Given the description of an element on the screen output the (x, y) to click on. 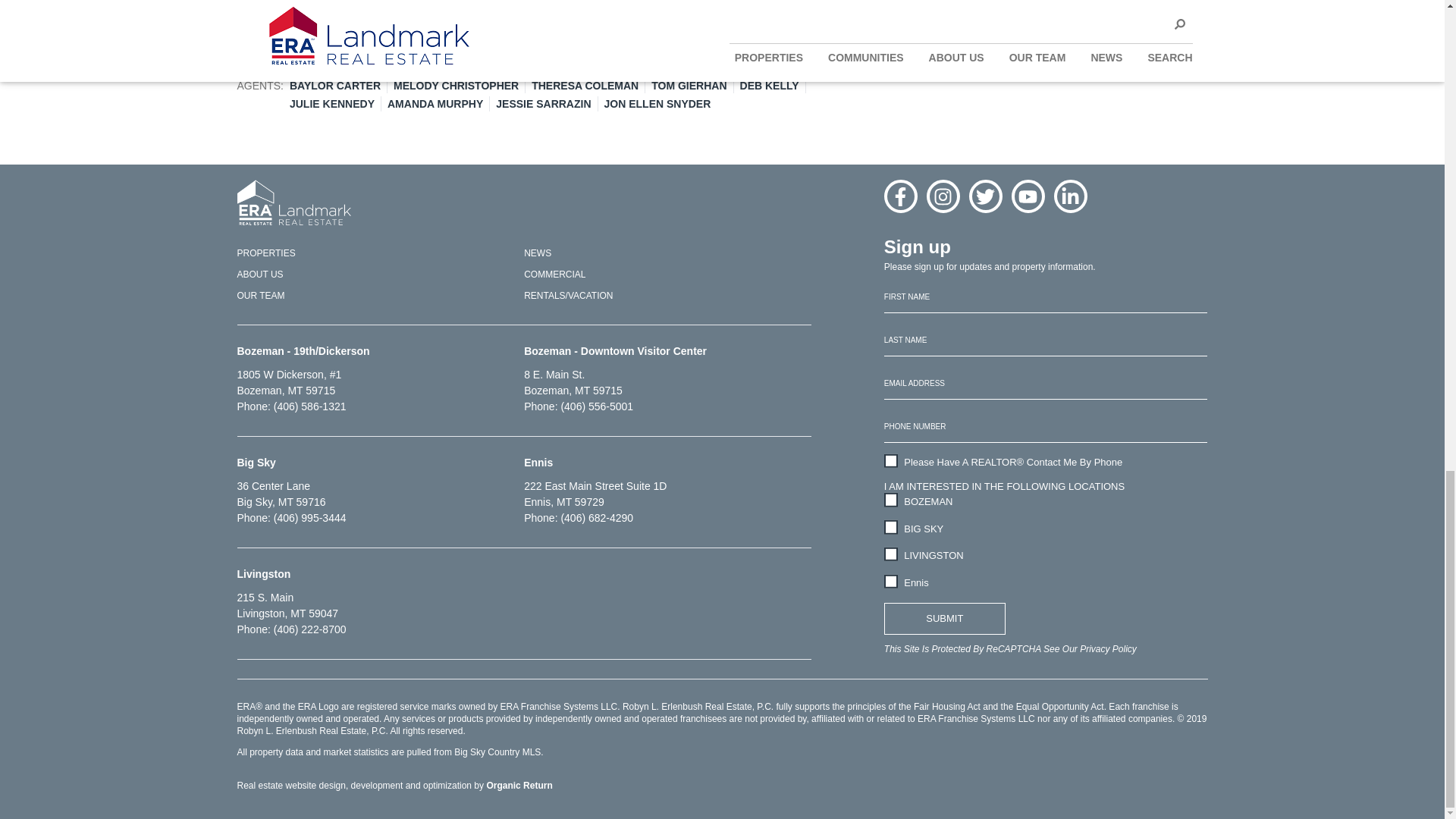
on (890, 460)
on (890, 581)
on (890, 526)
ERA Landmark on Twitter (986, 195)
ERA Landmark on YouTube (1028, 195)
ERA Landmark on Instagram (942, 195)
on (890, 554)
ERA Landmark on Facebook (900, 195)
on (890, 499)
